Given the description of an element on the screen output the (x, y) to click on. 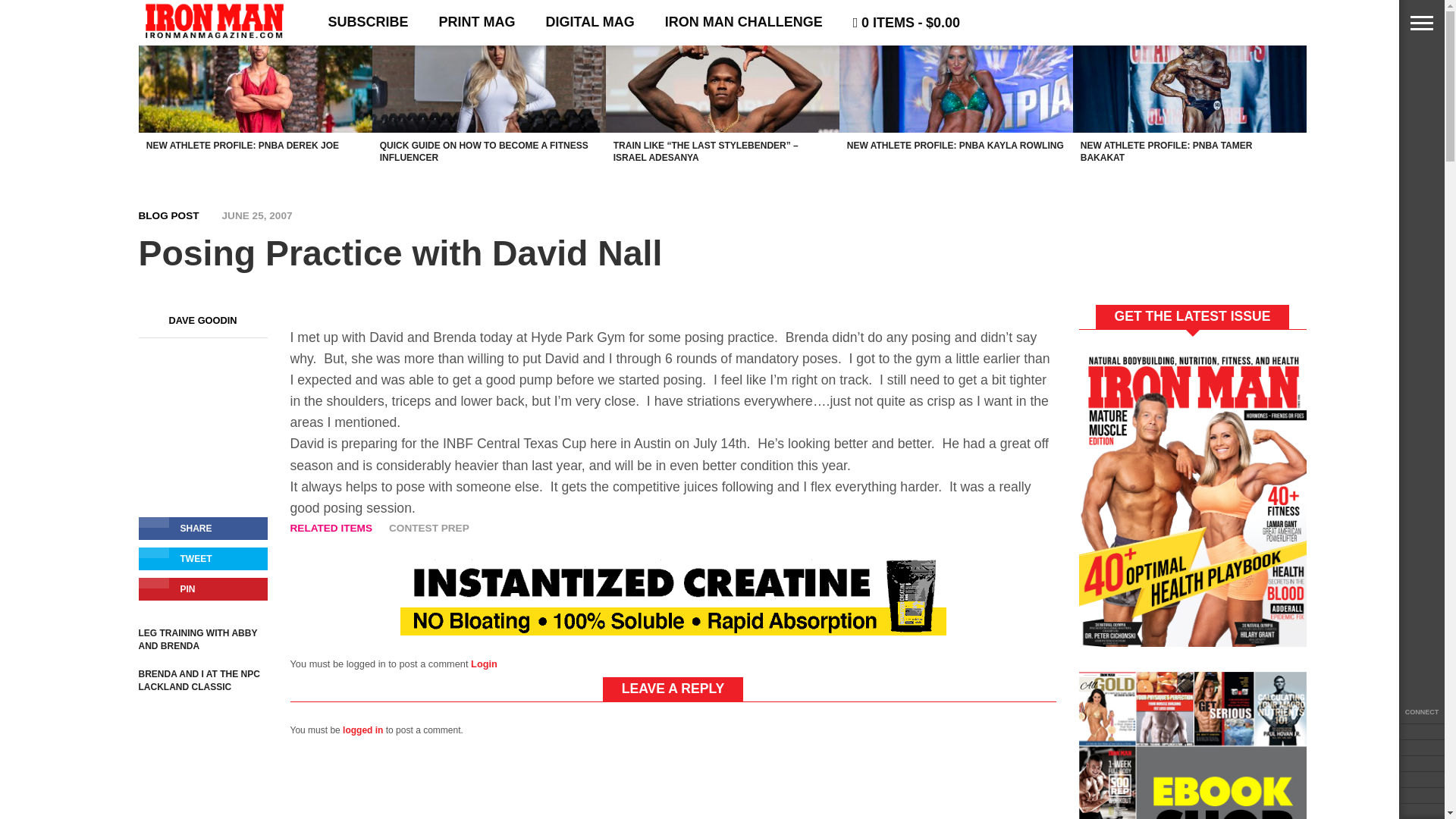
Posts by Dave Goodin (201, 319)
Instantized Creatine - Gains In Bulk (673, 630)
Start shopping (906, 22)
